Given the description of an element on the screen output the (x, y) to click on. 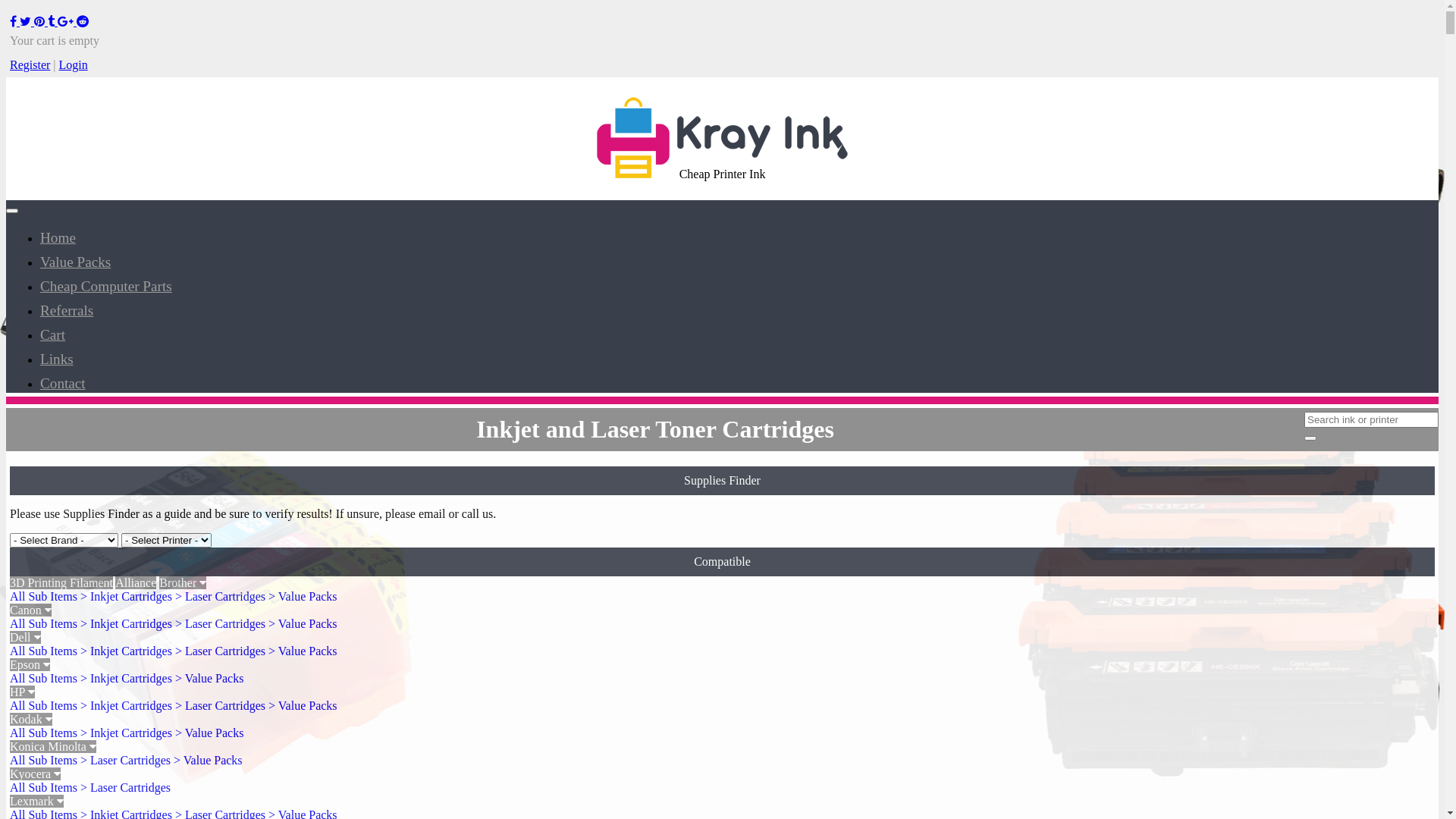
> Value Packs Element type: text (207, 759)
HP Element type: text (21, 691)
> Laser Cartridges Element type: text (220, 705)
Dell Element type: text (24, 636)
> Value Packs Element type: text (209, 677)
Brother Element type: text (182, 582)
Cart Element type: text (52, 334)
> Laser Cartridges Element type: text (220, 623)
Lexmark Element type: text (36, 800)
> Value Packs Element type: text (302, 650)
All Sub Items Element type: text (43, 705)
www.krayink.com.au Element type: hover (721, 137)
Kyocera Element type: text (34, 773)
All Sub Items Element type: text (43, 787)
> Value Packs Element type: text (302, 595)
Alliance Element type: text (135, 582)
> Inkjet Cartridges Element type: text (126, 732)
> Inkjet Cartridges Element type: text (126, 595)
> Inkjet Cartridges Element type: text (126, 705)
Kodak Element type: text (30, 718)
> Inkjet Cartridges Element type: text (126, 650)
Contact Element type: text (62, 383)
> Inkjet Cartridges Element type: text (126, 677)
All Sub Items Element type: text (43, 759)
Toggle navigation Element type: text (12, 210)
Register Element type: text (29, 64)
> Value Packs Element type: text (209, 732)
Konica Minolta Element type: text (52, 746)
> Laser Cartridges Element type: text (220, 650)
Home Element type: text (57, 237)
Referrals Element type: text (66, 310)
Links Element type: text (56, 359)
All Sub Items Element type: text (43, 595)
Login Element type: text (73, 64)
> Inkjet Cartridges Element type: text (126, 623)
All Sub Items Element type: text (43, 623)
> Value Packs Element type: text (302, 705)
All Sub Items Element type: text (43, 732)
> Laser Cartridges Element type: text (220, 595)
> Laser Cartridges Element type: text (125, 759)
> Value Packs Element type: text (302, 623)
All Sub Items Element type: text (43, 650)
3D Printing Filament Element type: text (60, 582)
> Laser Cartridges Element type: text (125, 787)
Canon Element type: text (30, 609)
Value Packs Element type: text (75, 261)
Cheap Computer Parts Element type: text (106, 286)
All Sub Items Element type: text (43, 677)
Epson Element type: text (29, 664)
